Given the description of an element on the screen output the (x, y) to click on. 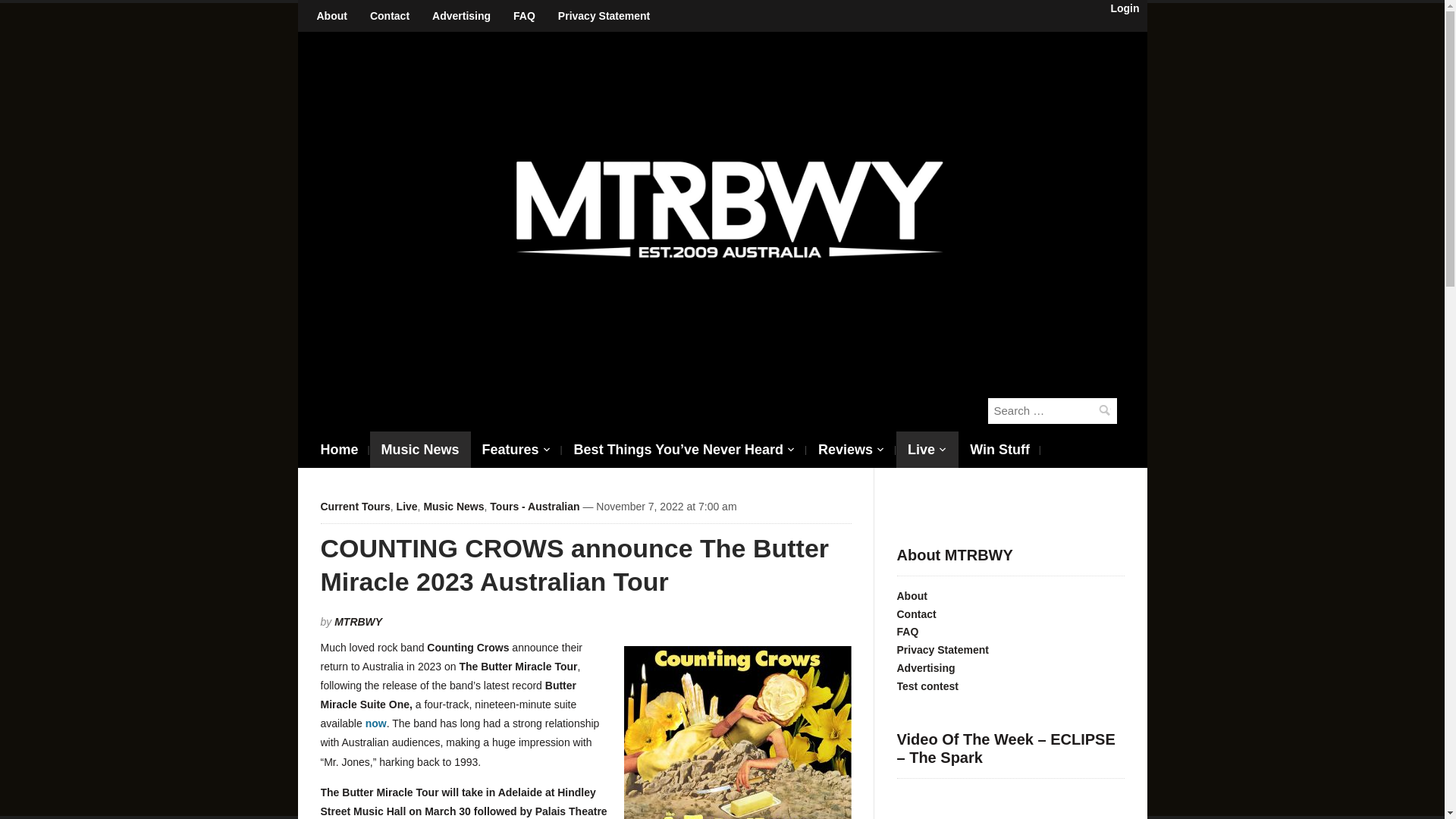
Posts by MTRBWY (357, 621)
YouTube video player (1010, 804)
Search (1103, 410)
Search (1103, 410)
May The Rock Be With You (730, 205)
Search for: (1051, 411)
